Given the description of an element on the screen output the (x, y) to click on. 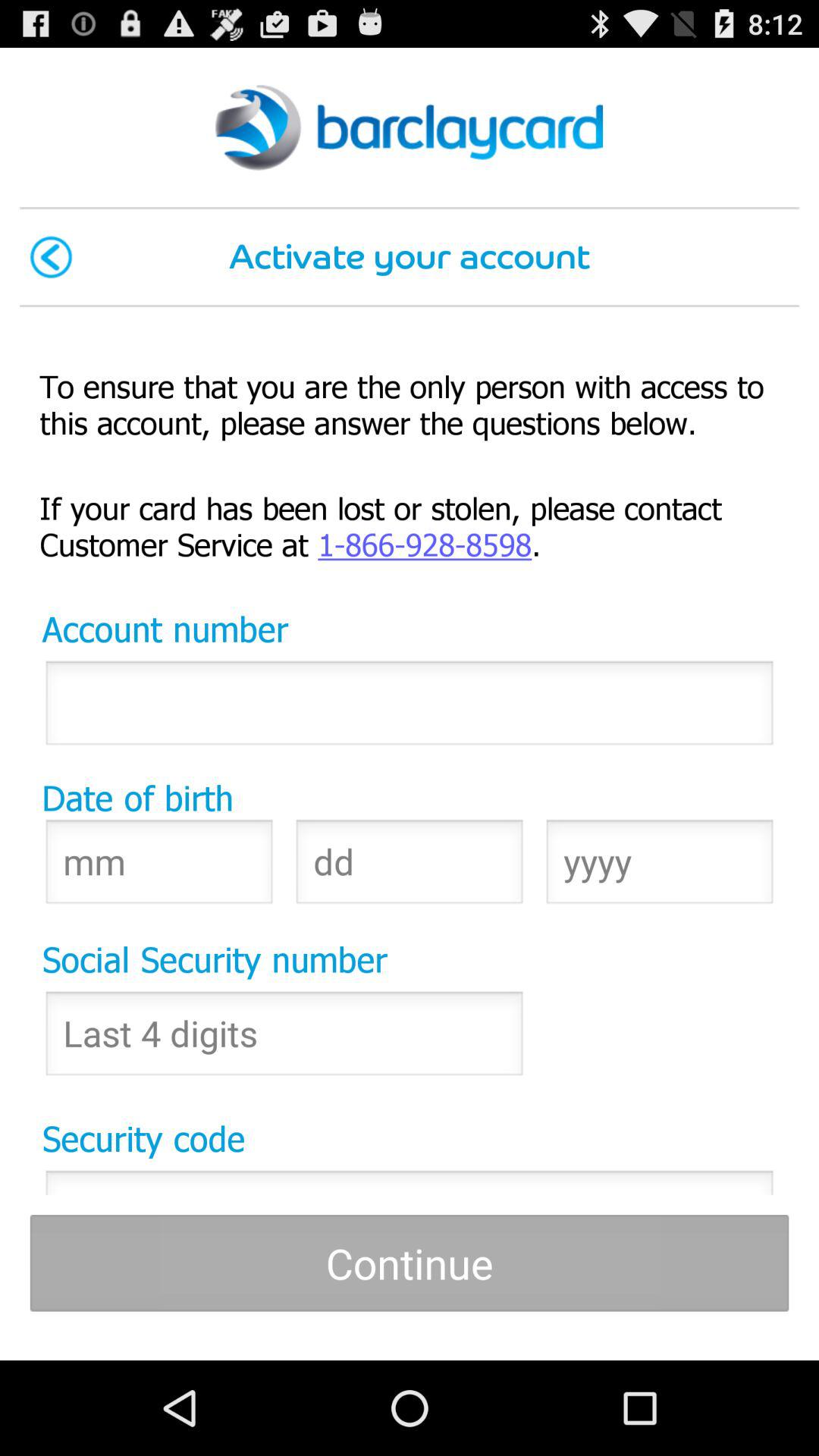
launch icon next to activate your account (50, 256)
